Given the description of an element on the screen output the (x, y) to click on. 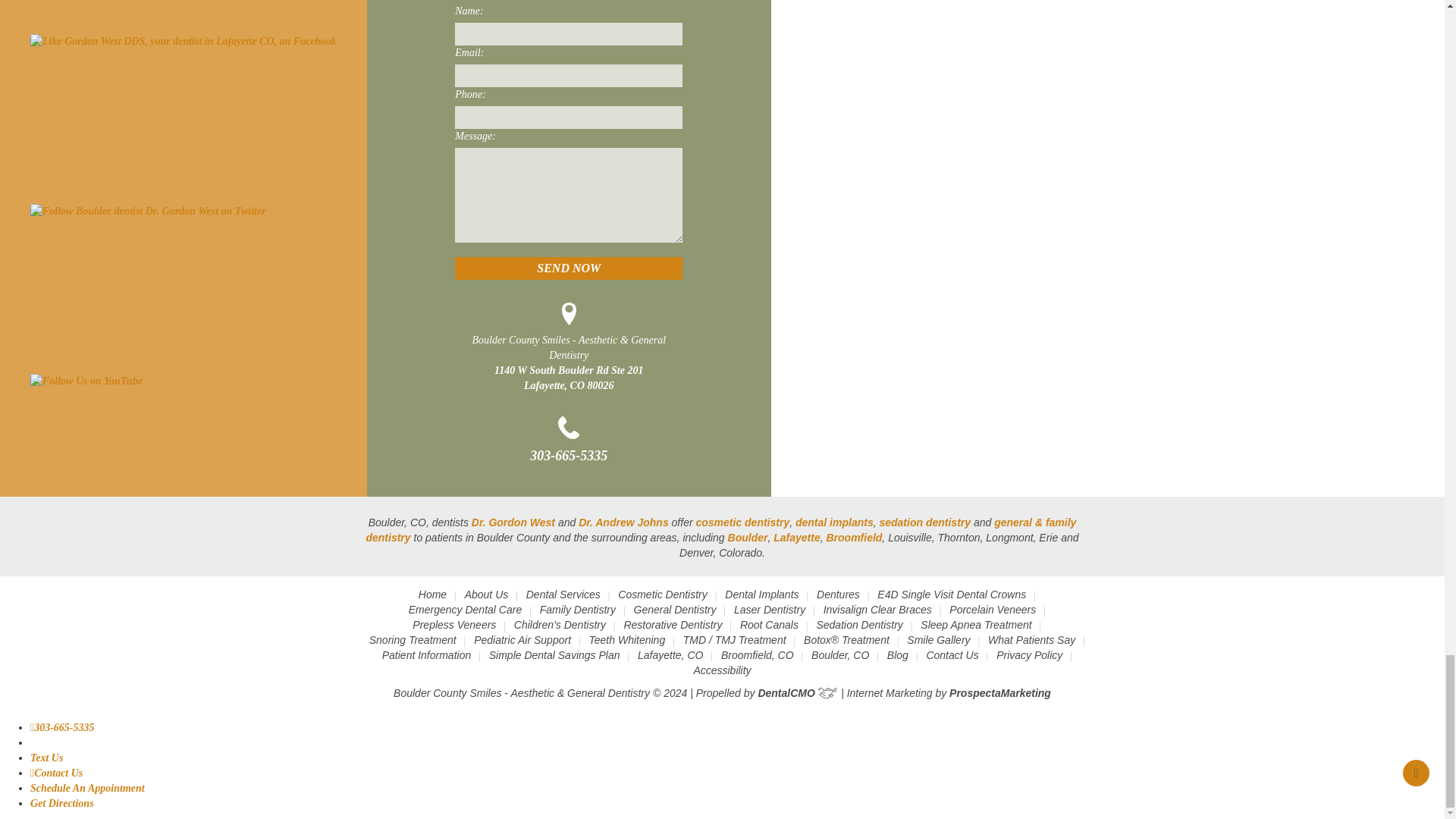
Internet Dental Marketing (1000, 693)
Follow Us on YouTube (86, 381)
Send Now (568, 268)
Follow Us on Twitter (148, 211)
Follow Us on Facebook (183, 41)
